Given the description of an element on the screen output the (x, y) to click on. 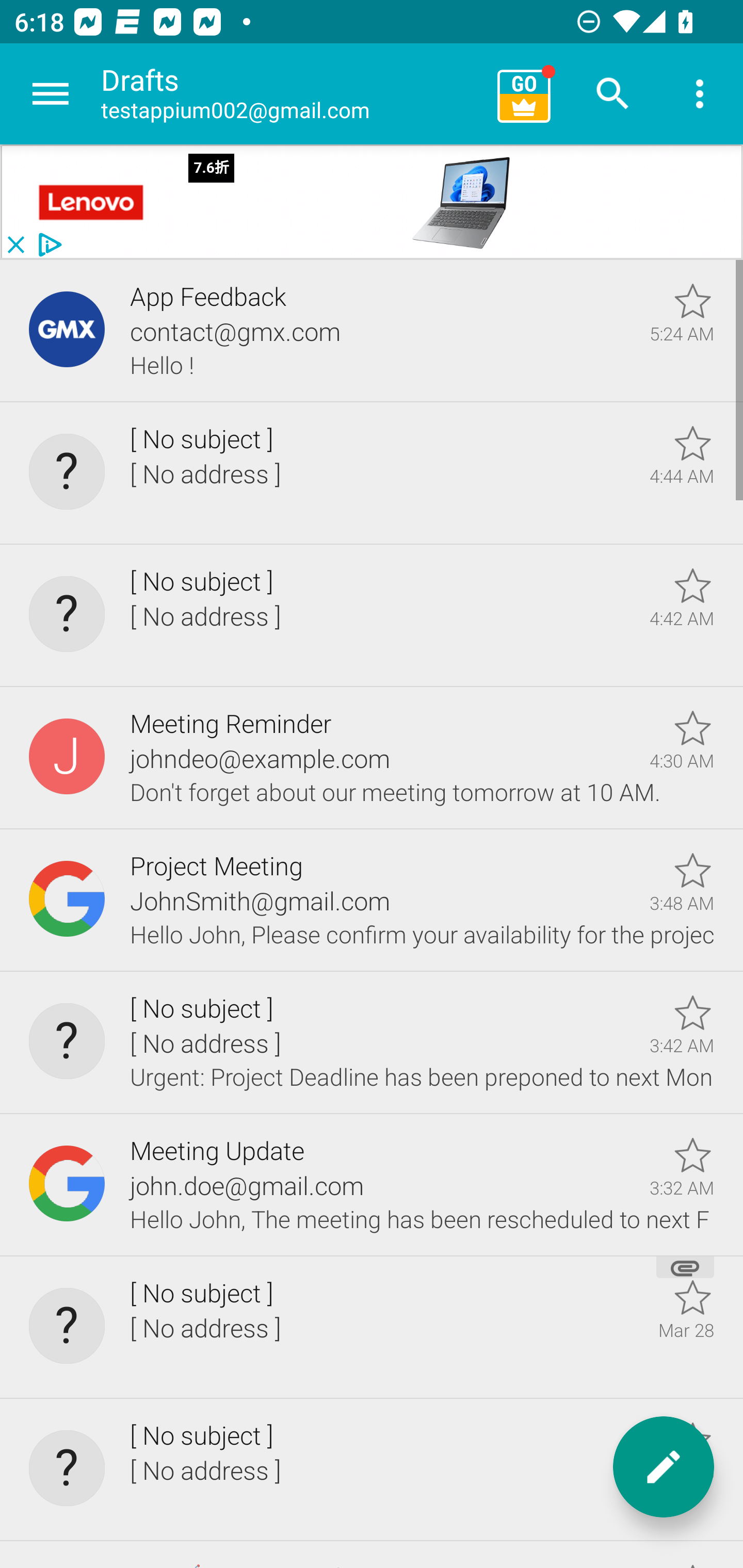
Navigate up (50, 93)
Drafts testappium002@gmail.com (291, 93)
Search (612, 93)
More options (699, 93)
privacy_small close_button     7.6折    7.6折 (371, 202)
   (91, 202)
 7.6折    7.6折 (461, 203)
close_button (14, 245)
privacy_small (47, 245)
App Feedback, contact@gmx.com, 5:24 AM, Hello ! (371, 331)
[ No subject ], [ No address ], 4:44 AM (371, 473)
[ No subject ], [ No address ], 4:42 AM (371, 615)
[ No subject ], [ No address ], Mar 18 (371, 1469)
New message (663, 1466)
